Given the description of an element on the screen output the (x, y) to click on. 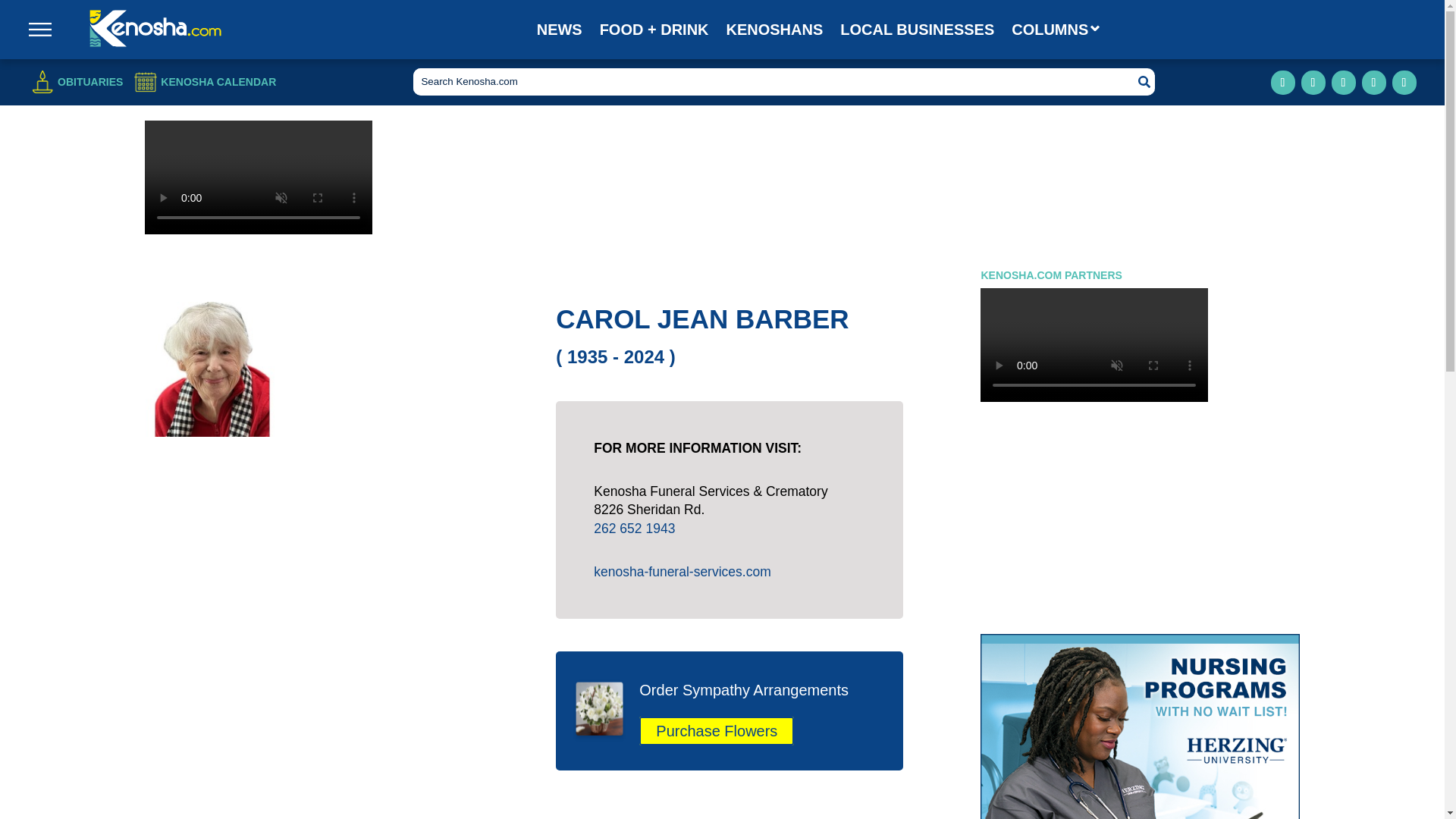
Follow on LinkedIn (1343, 82)
Follow on Instagram (1312, 82)
Follow on Spotify (1403, 82)
Follow on X (1373, 82)
Follow on Facebook (1283, 82)
Carol Jean Barber (211, 369)
